Given the description of an element on the screen output the (x, y) to click on. 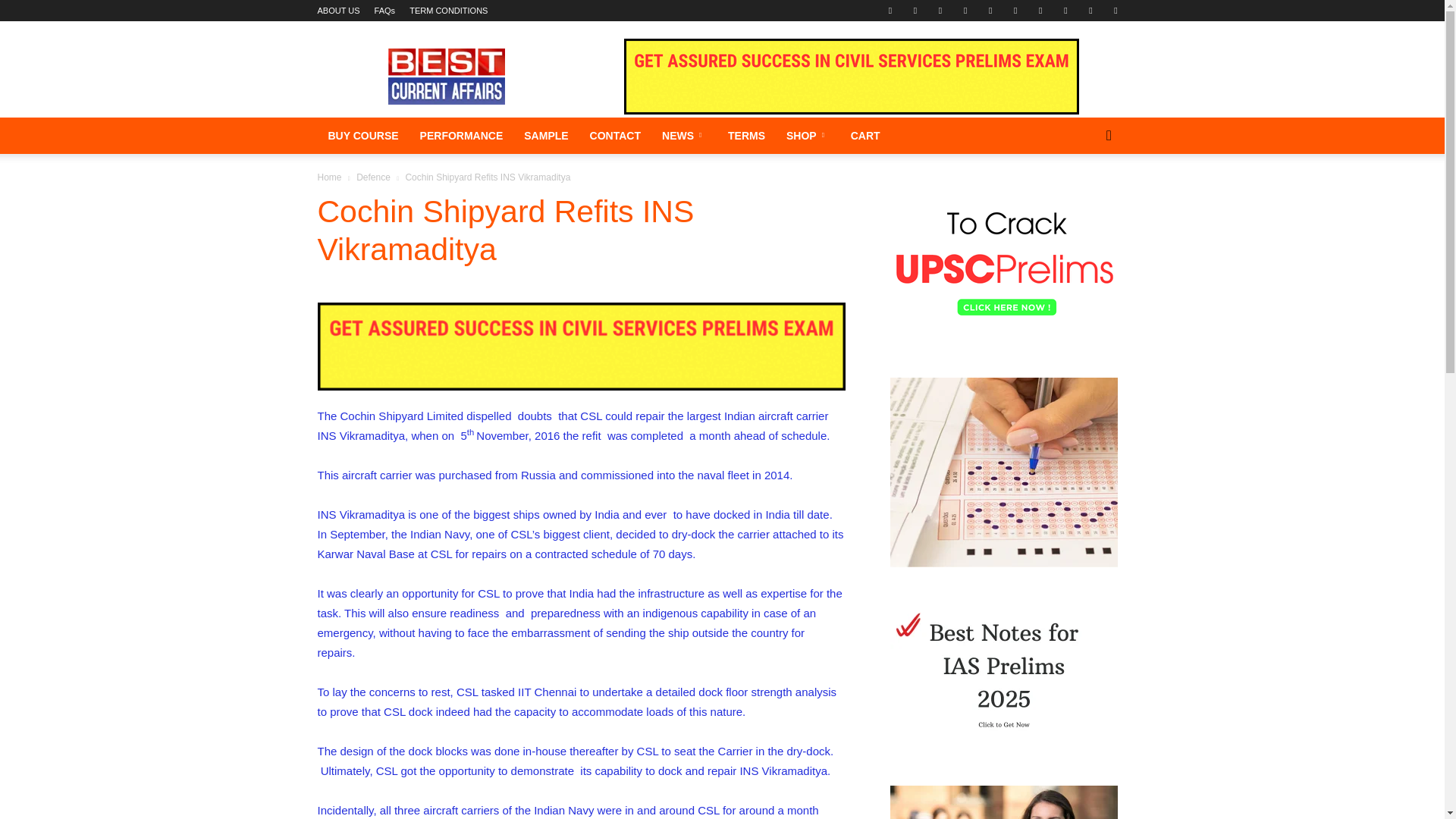
FAQs (385, 10)
TERM CONDITIONS (448, 10)
ABOUT US (338, 10)
Instagram (964, 10)
Flickr (915, 10)
Facebook (890, 10)
